Given the description of an element on the screen output the (x, y) to click on. 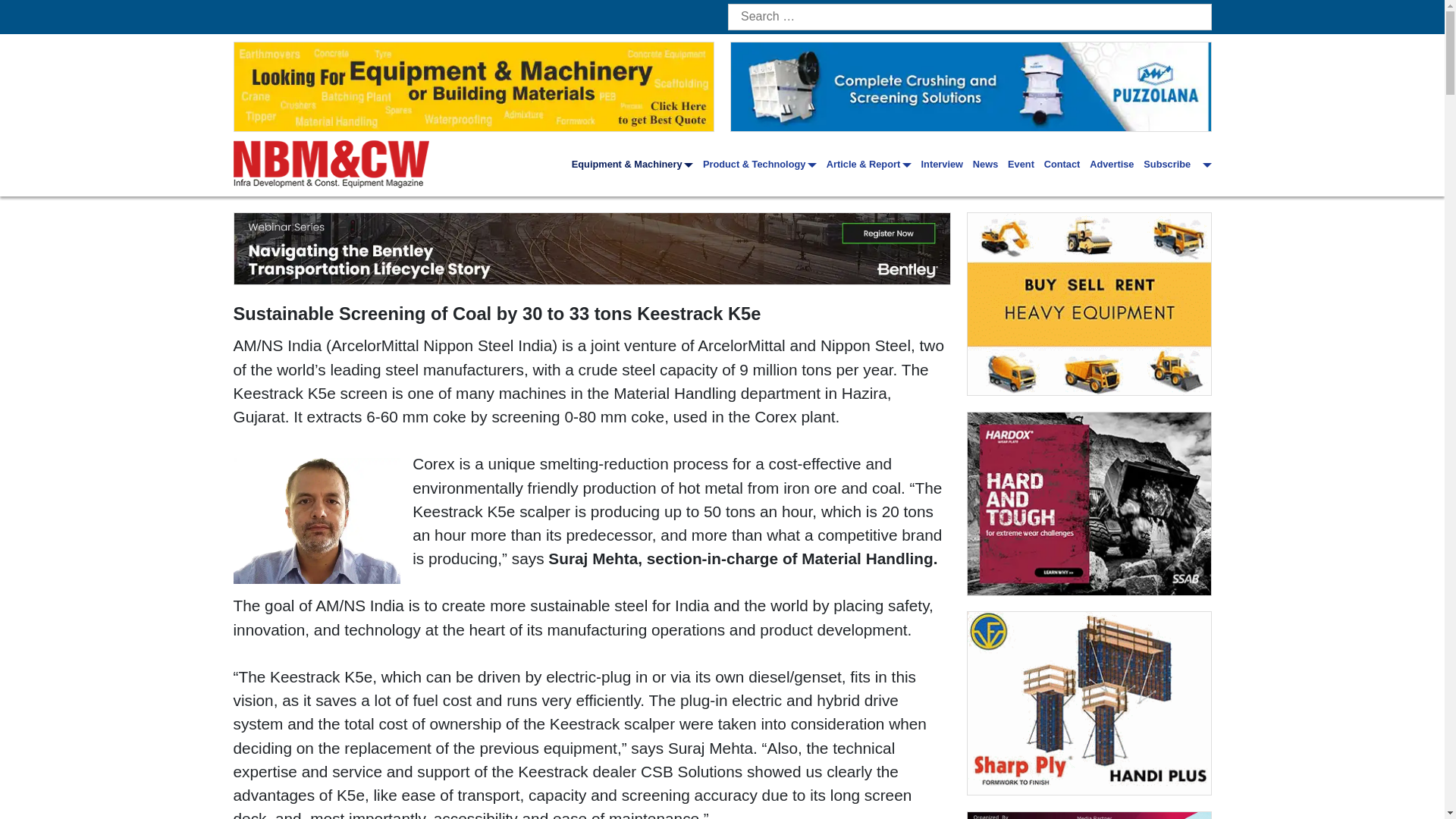
Navigating the Bentley Transportation Lifecycle Story (591, 248)
Infrabazaar - One STOP SHOP for all your INFRA needs (1089, 303)
Puzzolana - Complete Crushing and Screening Solutions (970, 86)
Sharp Ply - Formwork to finish (1089, 702)
